Given the description of an element on the screen output the (x, y) to click on. 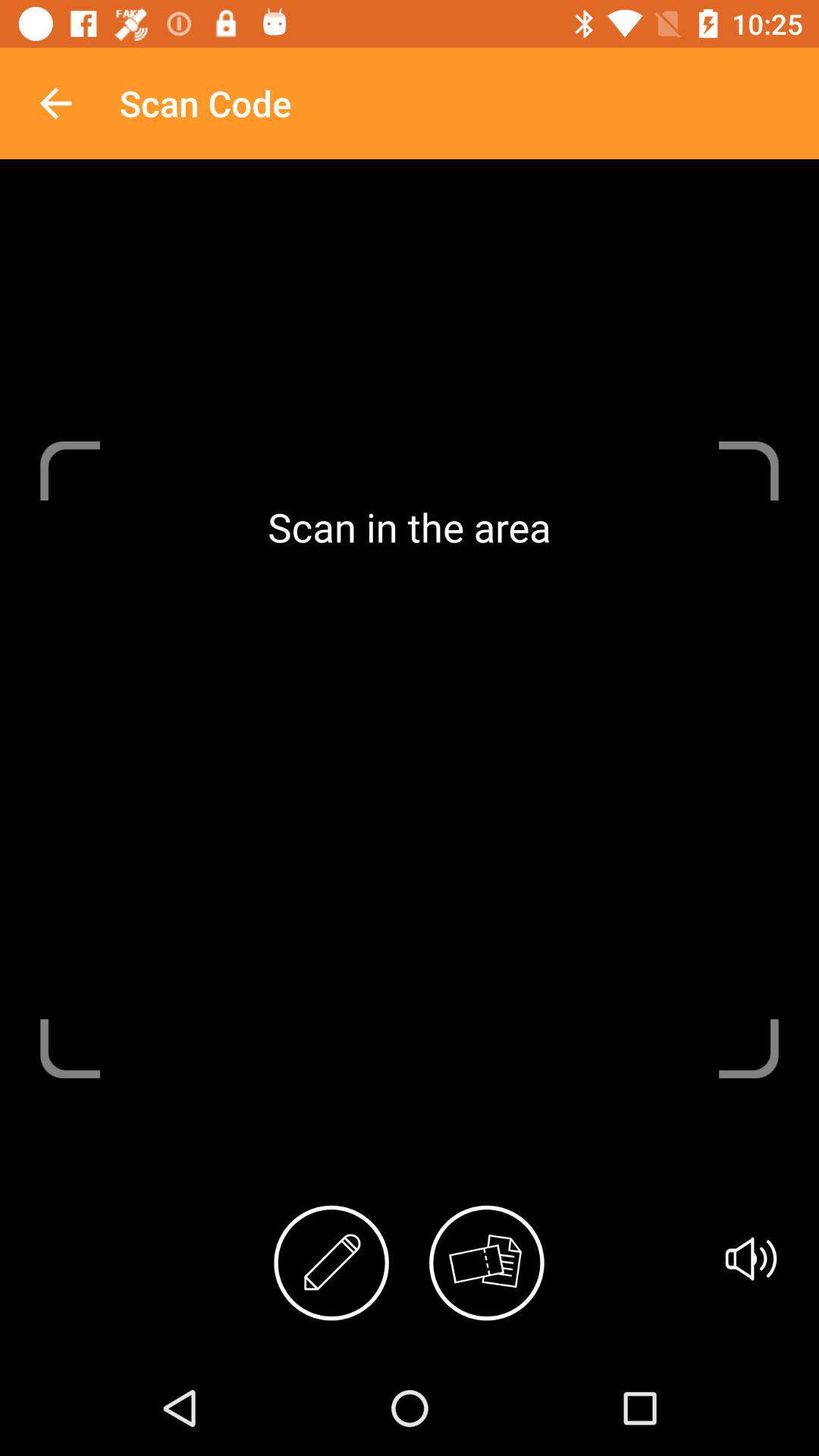
open item at the bottom right corner (750, 1258)
